Given the description of an element on the screen output the (x, y) to click on. 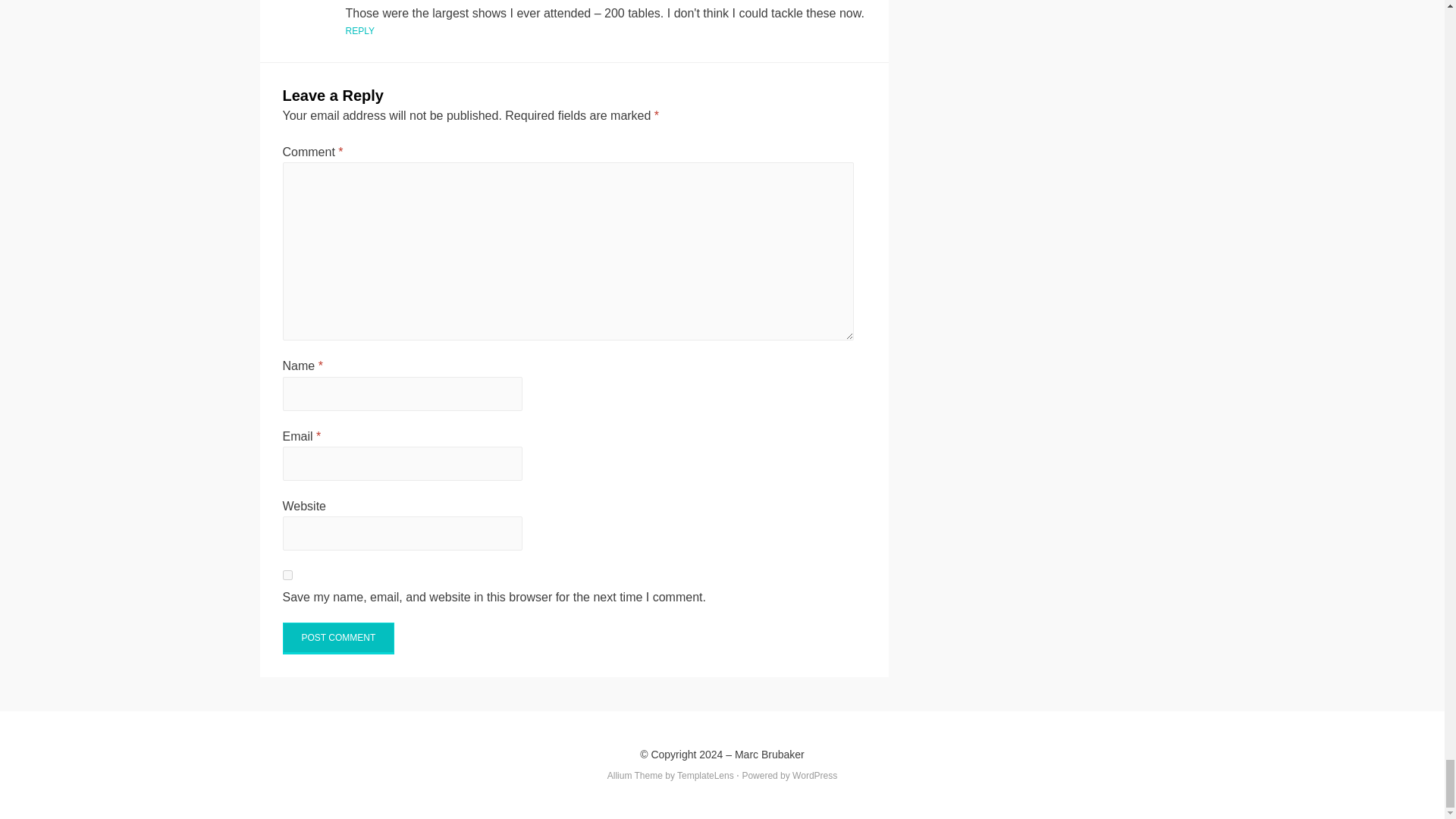
yes (287, 574)
Post Comment (338, 638)
WordPress (814, 775)
TemplateLens (705, 775)
